Given the description of an element on the screen output the (x, y) to click on. 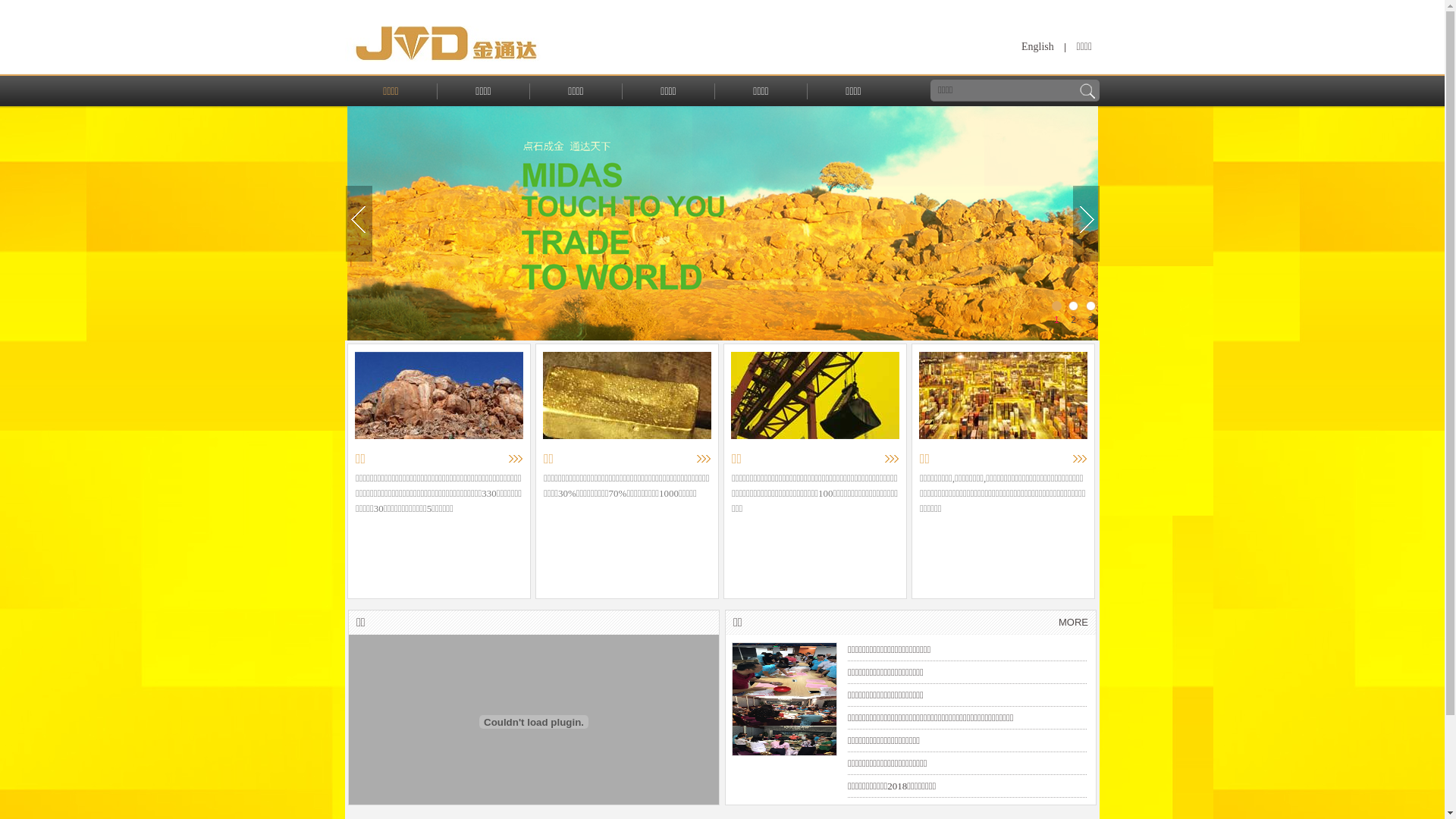
English Element type: text (1037, 46)
3 Element type: text (1090, 305)
MORE Element type: text (1073, 622)
1 Element type: text (1056, 305)
2 Element type: text (1073, 305)
